Given the description of an element on the screen output the (x, y) to click on. 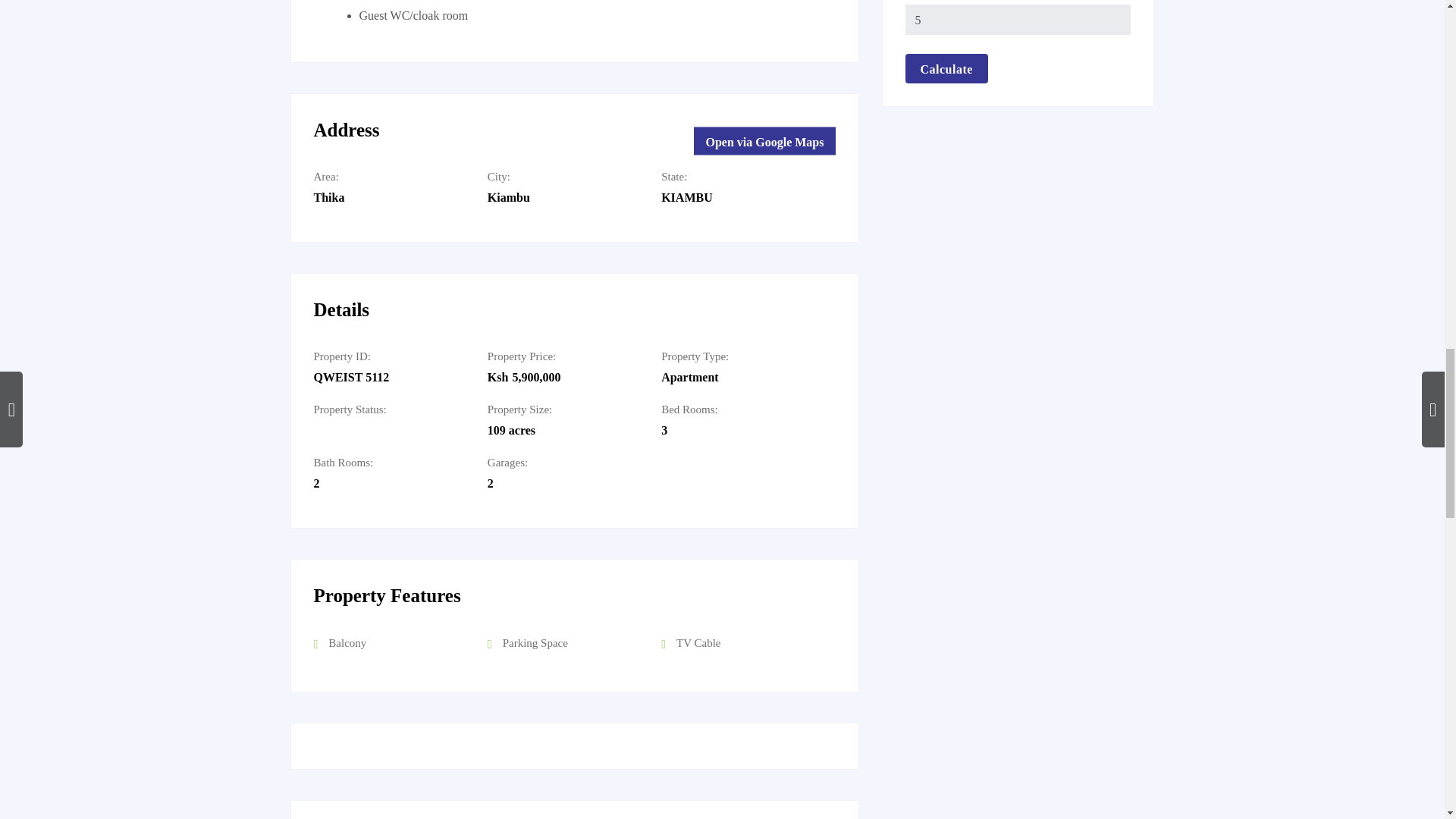
Thika (329, 196)
Apartment (690, 377)
5 (1018, 19)
KIAMBU (687, 196)
Kiambu (508, 196)
Open via Google Maps (764, 141)
